Given the description of an element on the screen output the (x, y) to click on. 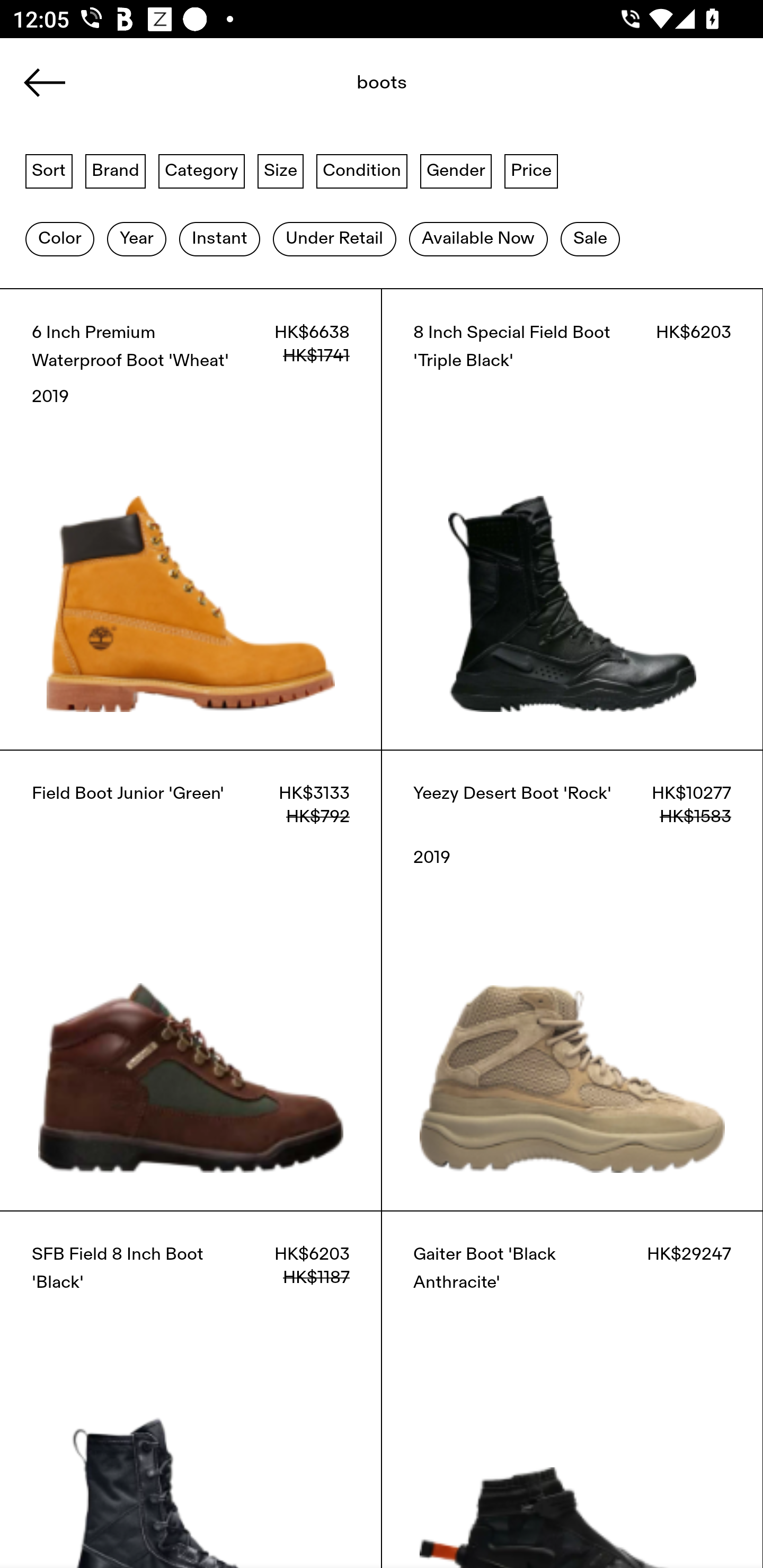
boots (340, 88)
Sort (48, 170)
Brand (115, 170)
Category (201, 170)
Size (280, 170)
Condition (361, 170)
Gender (455, 170)
Price (530, 170)
Color (59, 239)
Year (136, 239)
Instant (219, 239)
Under Retail (334, 239)
Available Now (477, 239)
Sale (589, 239)
8 Inch Special Field Boot 'Triple Black' HK$6203 (572, 518)
Field Boot Junior 'Green' HK$3133 HK$792 (190, 979)
Yeezy Desert Boot 'Rock' HK$10277 HK$1583 2019 (572, 979)
SFB Field 8 Inch Boot 'Black' HK$6203 HK$1187 (190, 1389)
Gaiter Boot 'Black Anthracite' HK$29247 (572, 1389)
